Given the description of an element on the screen output the (x, y) to click on. 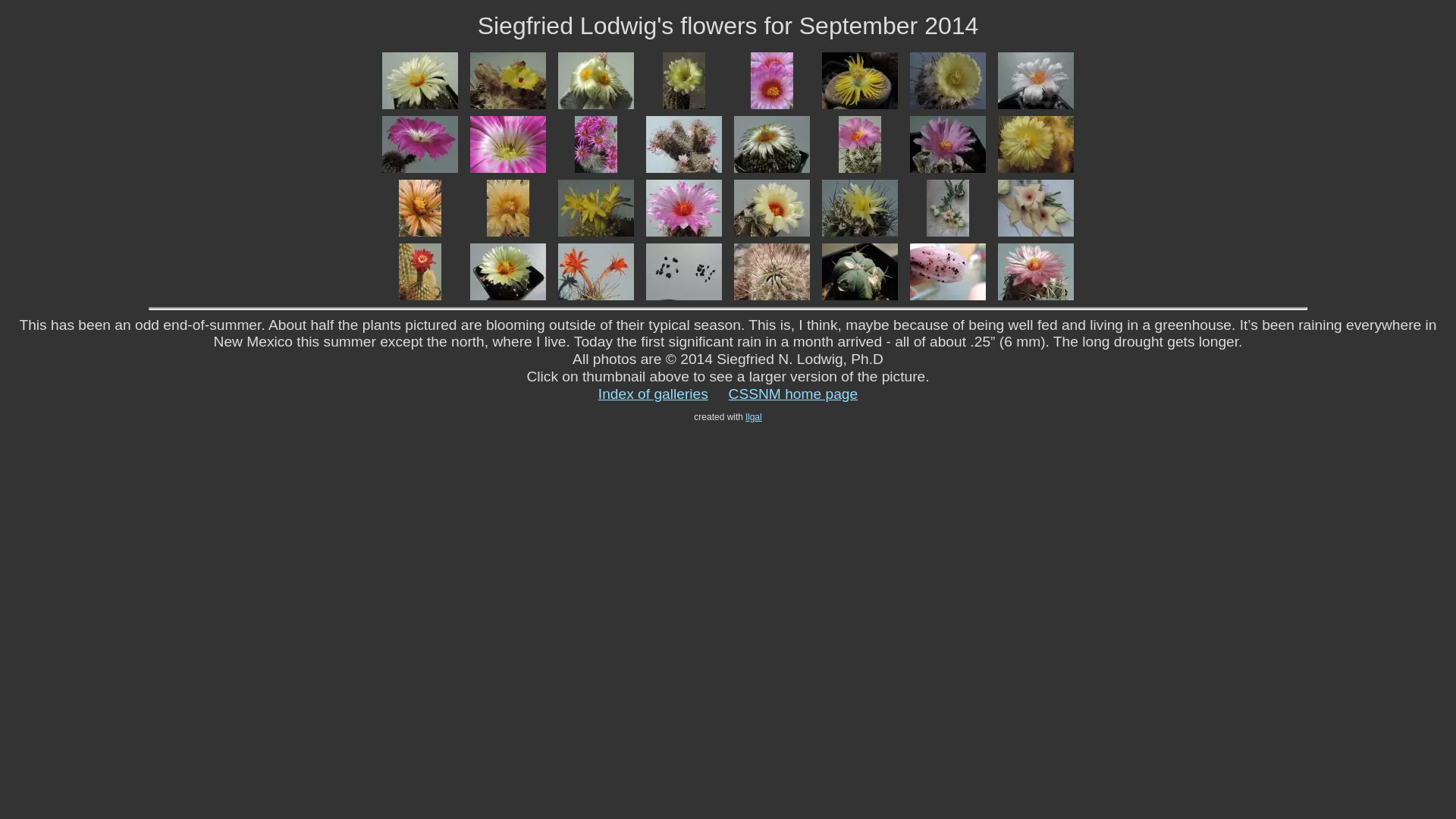
CSSNM home page (794, 393)
Index of galleries (652, 393)
